Given the description of an element on the screen output the (x, y) to click on. 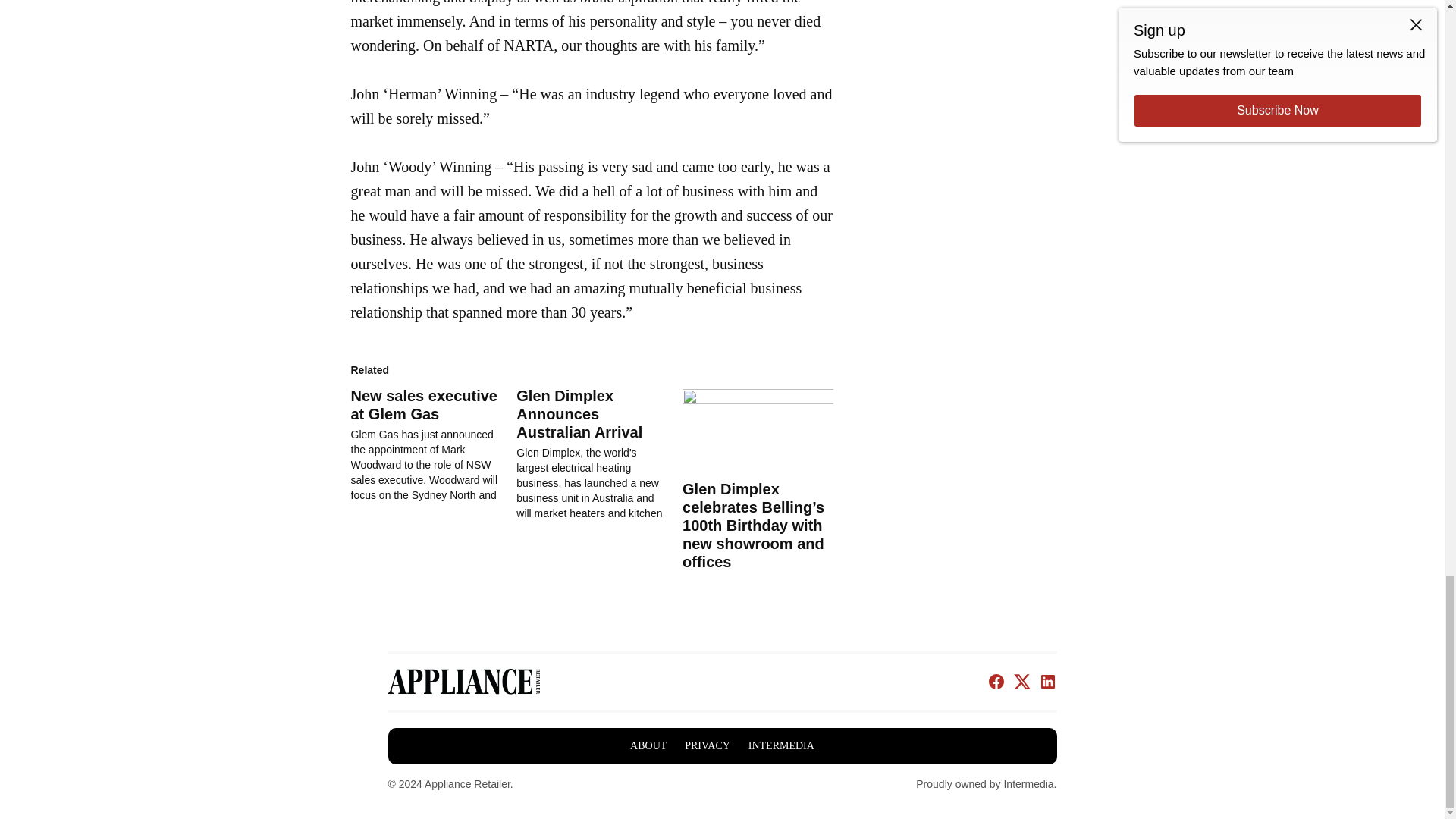
New sales executive at Glem Gas (423, 404)
Glen Dimplex Announces Australian Arrival (579, 413)
Glen Dimplex Announces Australian Arrival (599, 453)
New sales executive at Glem Gas (433, 444)
